Given the description of an element on the screen output the (x, y) to click on. 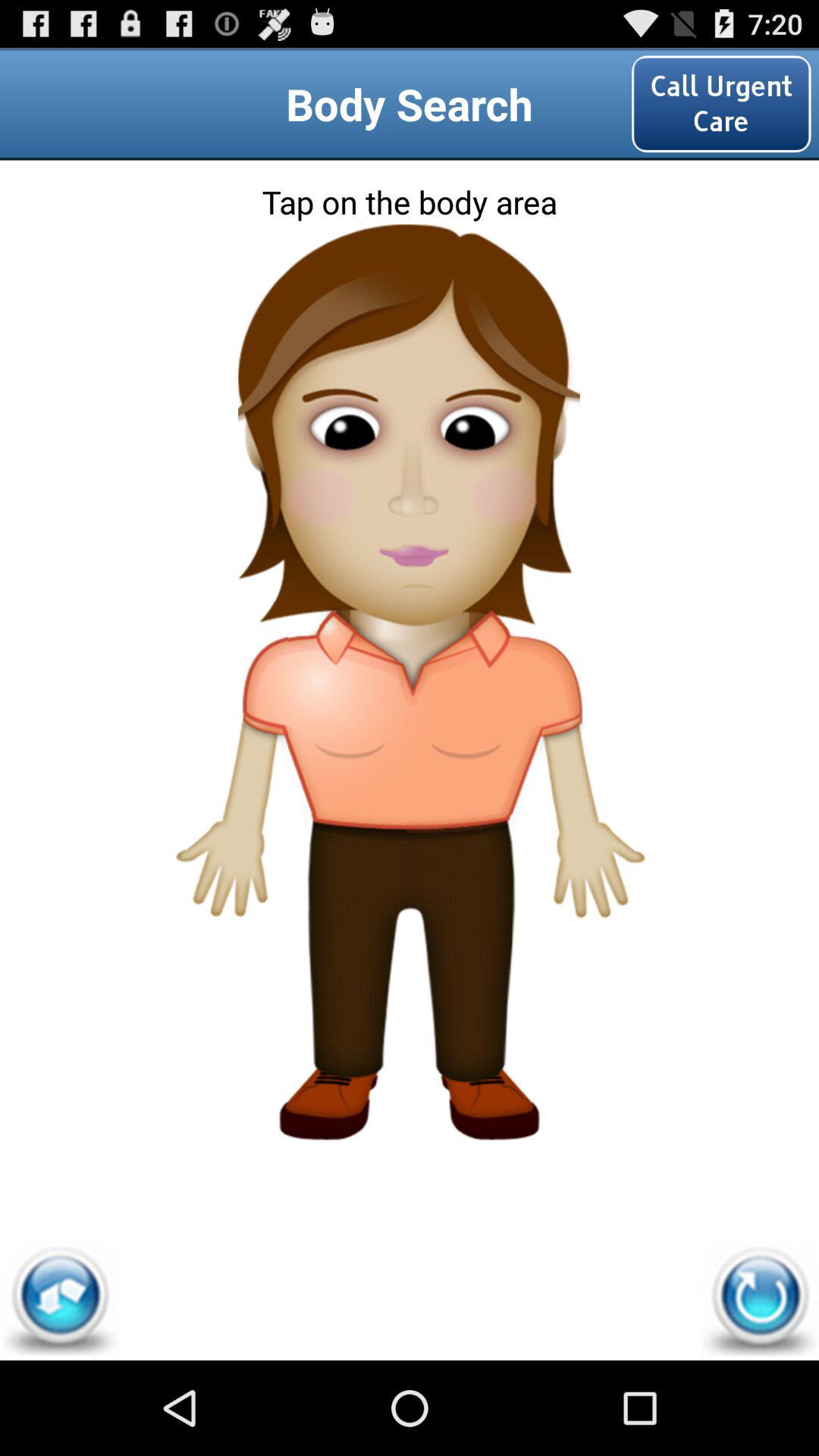
click on the option call urgent care (721, 104)
click the refresh icon on the bottom right side of the web page (759, 1300)
